Given the description of an element on the screen output the (x, y) to click on. 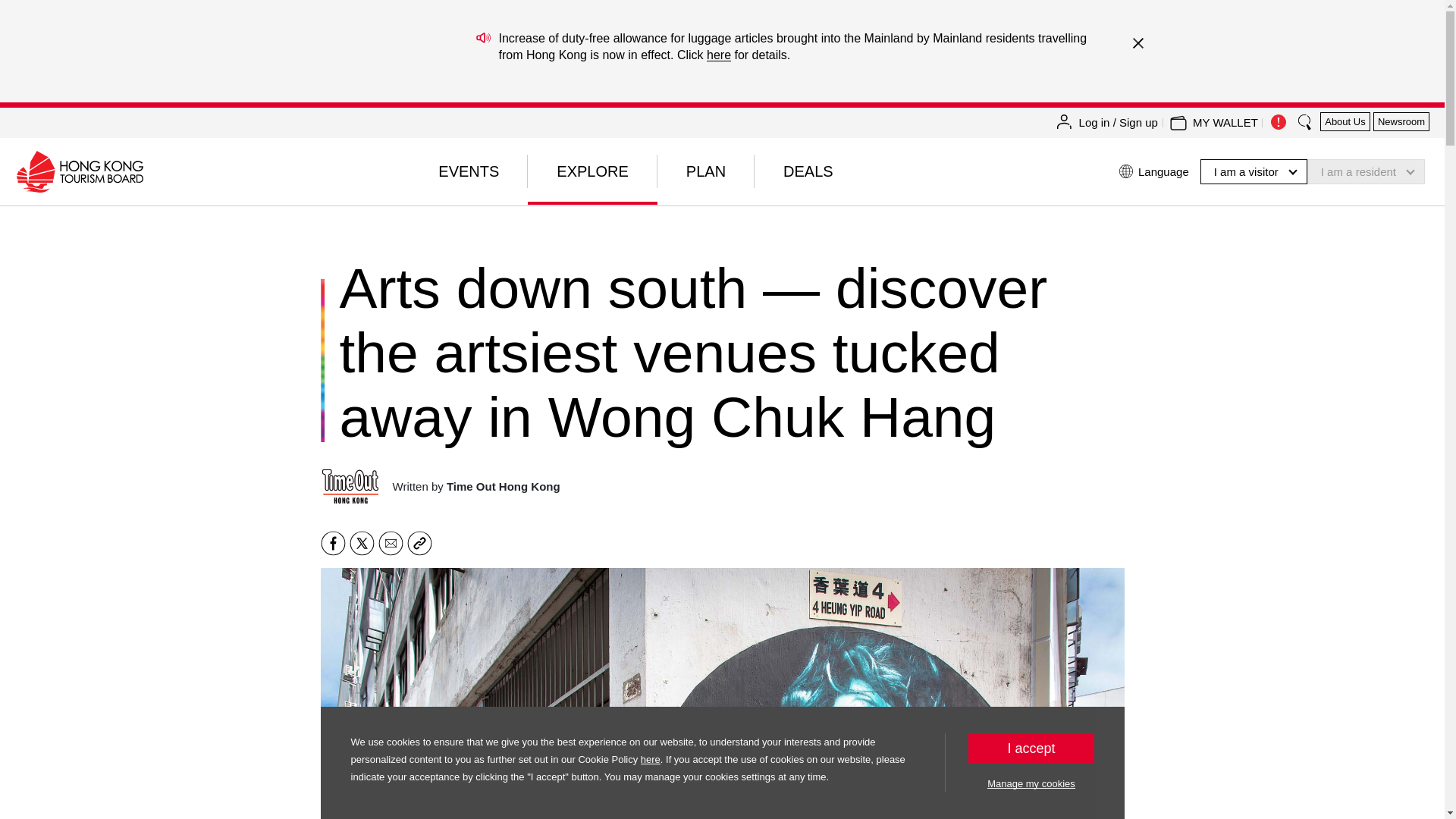
About Us (1345, 121)
MY WALLET (1224, 122)
PLAN (706, 171)
Newsroom (1401, 121)
here (718, 54)
EXPLORE (591, 171)
Hong Kong Tourism Board (79, 171)
Time Out Hong Kong (350, 486)
